Given the description of an element on the screen output the (x, y) to click on. 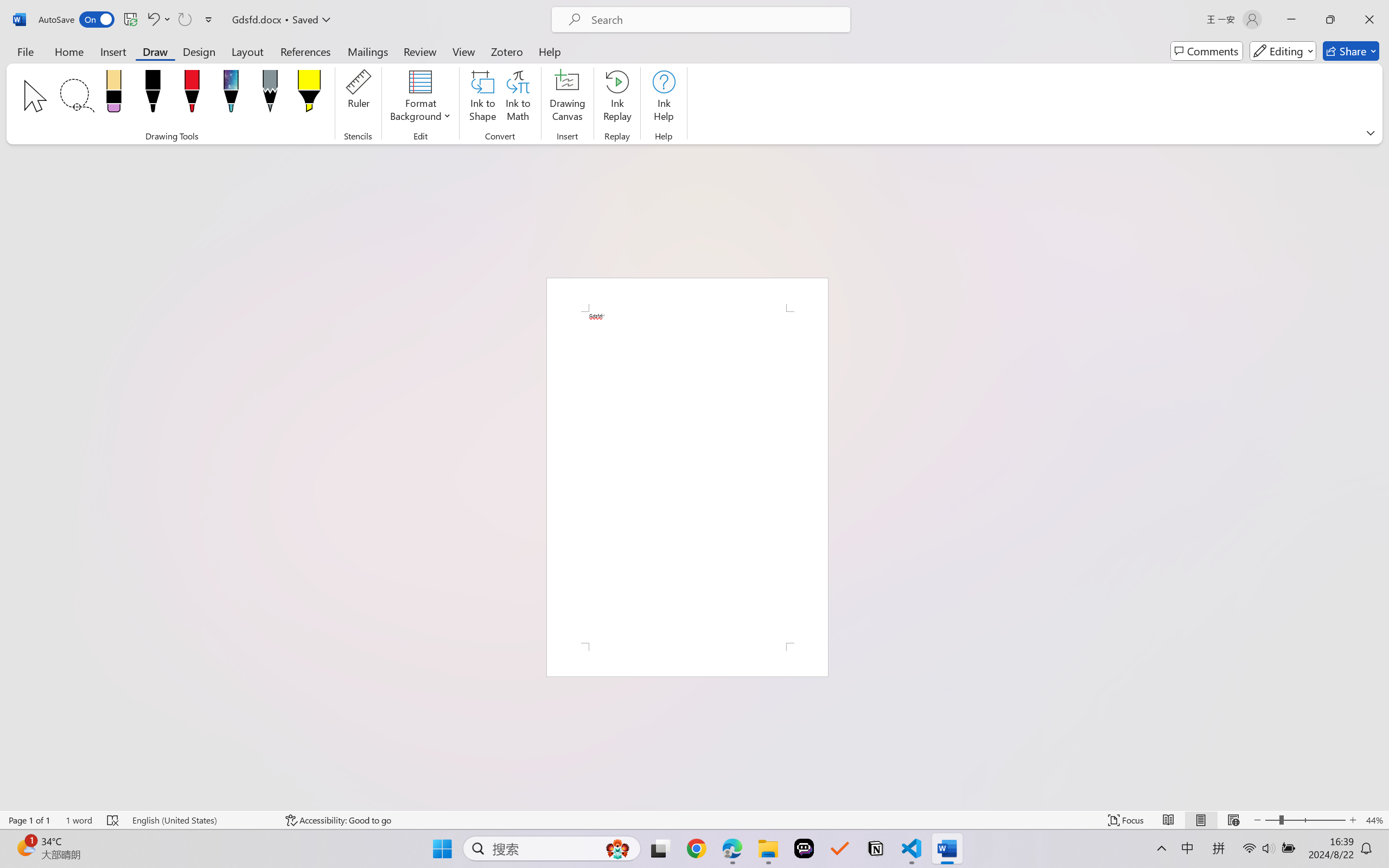
Percent (727, 391)
Read more about making documents accessible (1322, 519)
From Current Slide... (121, 62)
